Given the description of an element on the screen output the (x, y) to click on. 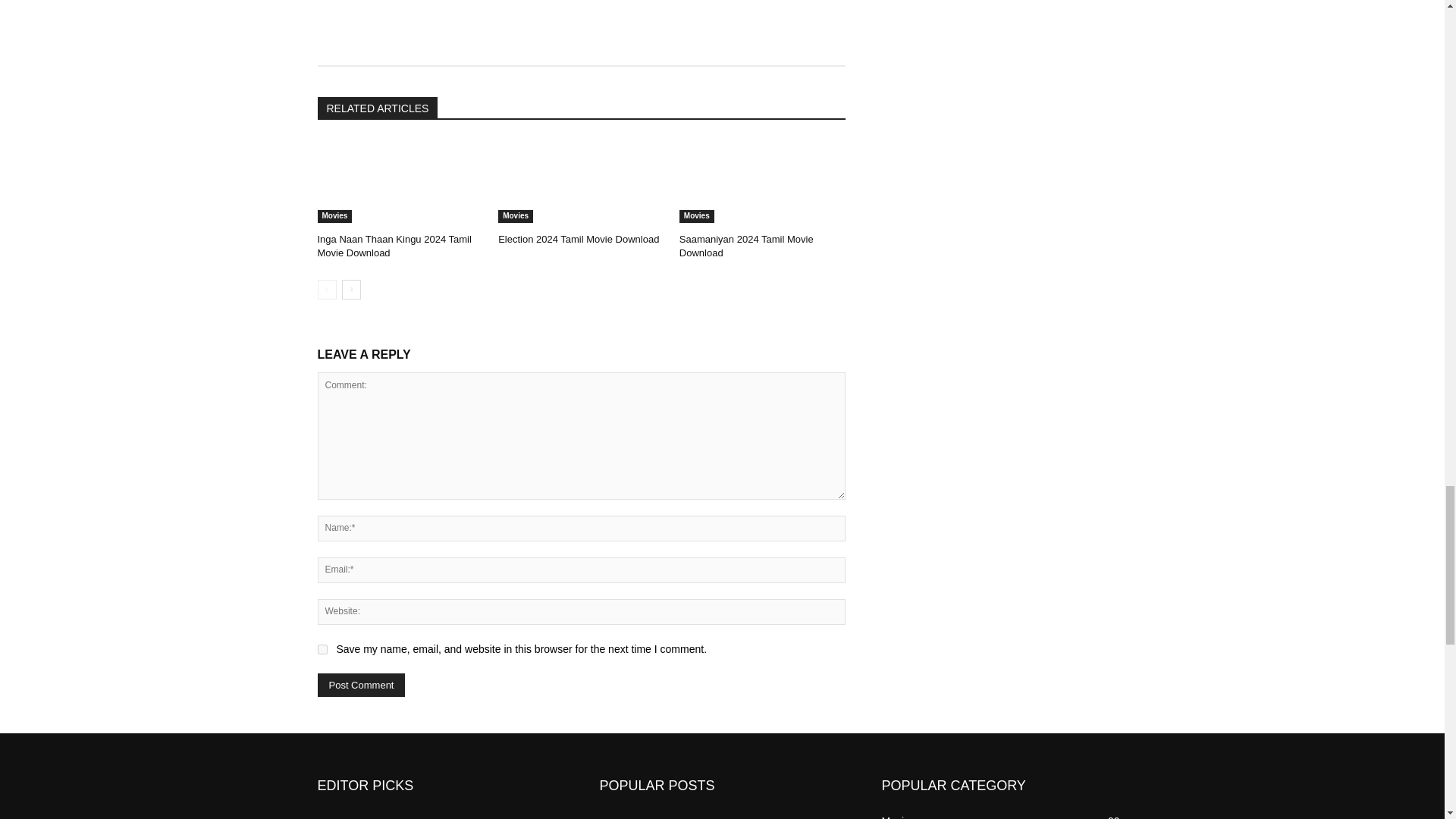
yes (321, 649)
Post Comment (360, 684)
